Given the description of an element on the screen output the (x, y) to click on. 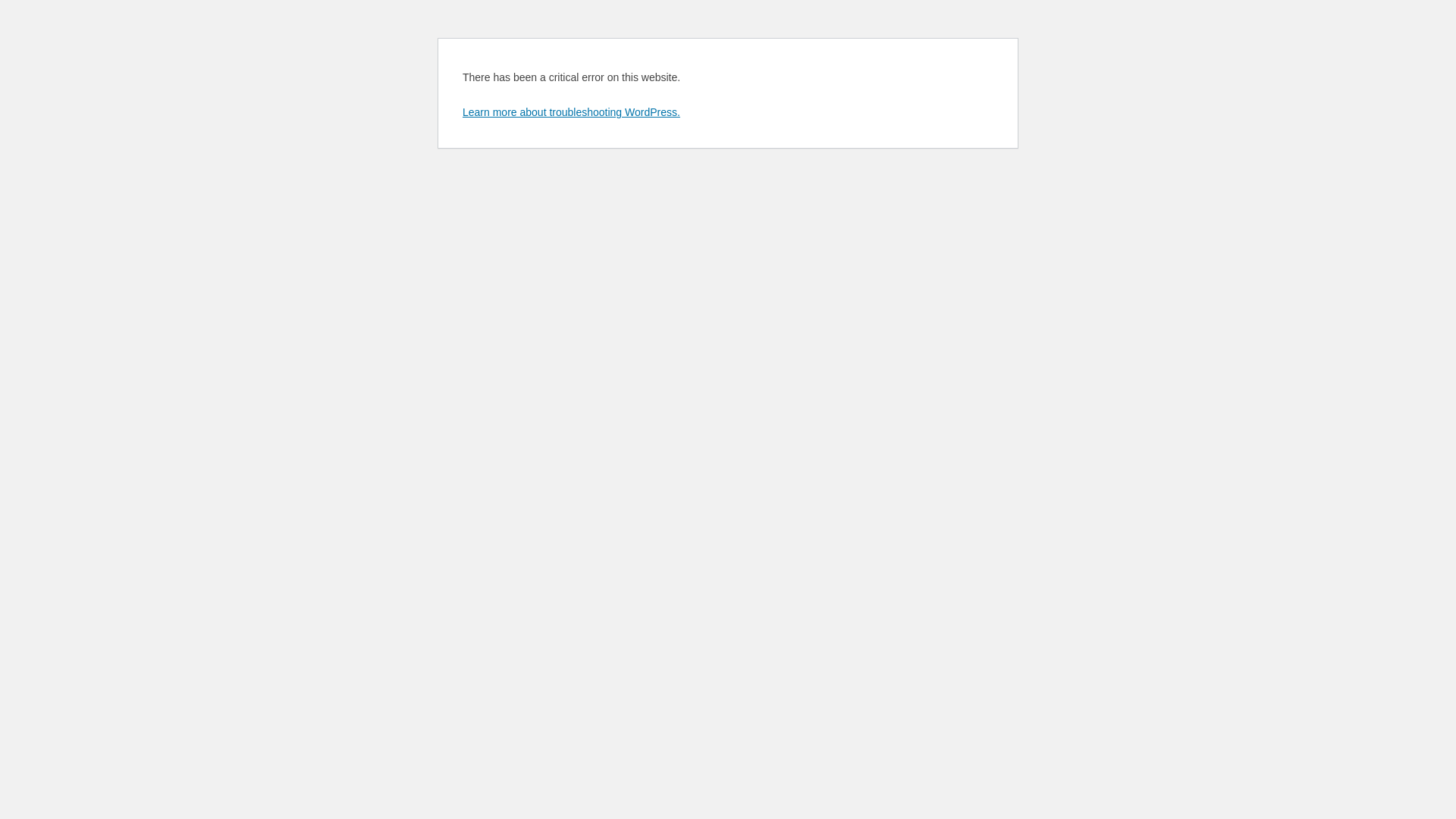
Learn more about troubleshooting WordPress. Element type: text (571, 112)
